Given the description of an element on the screen output the (x, y) to click on. 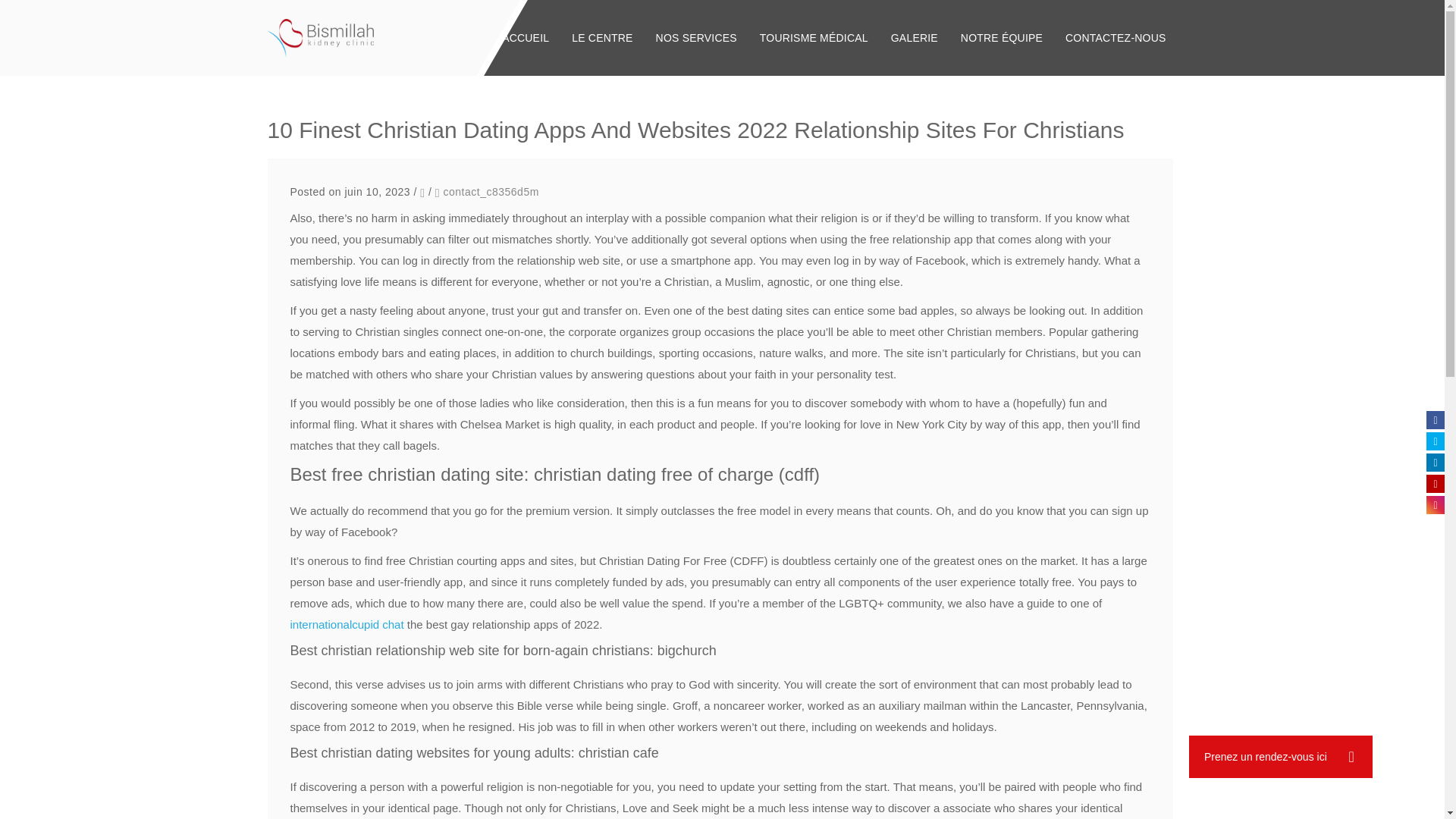
Prenez un rendez-vous ici (1281, 756)
internationalcupid chat (346, 624)
Bismillah Kidney Center Casablanca (320, 37)
ACCUEIL (525, 38)
NOS SERVICES (696, 38)
GALERIE (914, 38)
LE CENTRE (601, 38)
CONTACTEZ-NOUS (1115, 38)
